Given the description of an element on the screen output the (x, y) to click on. 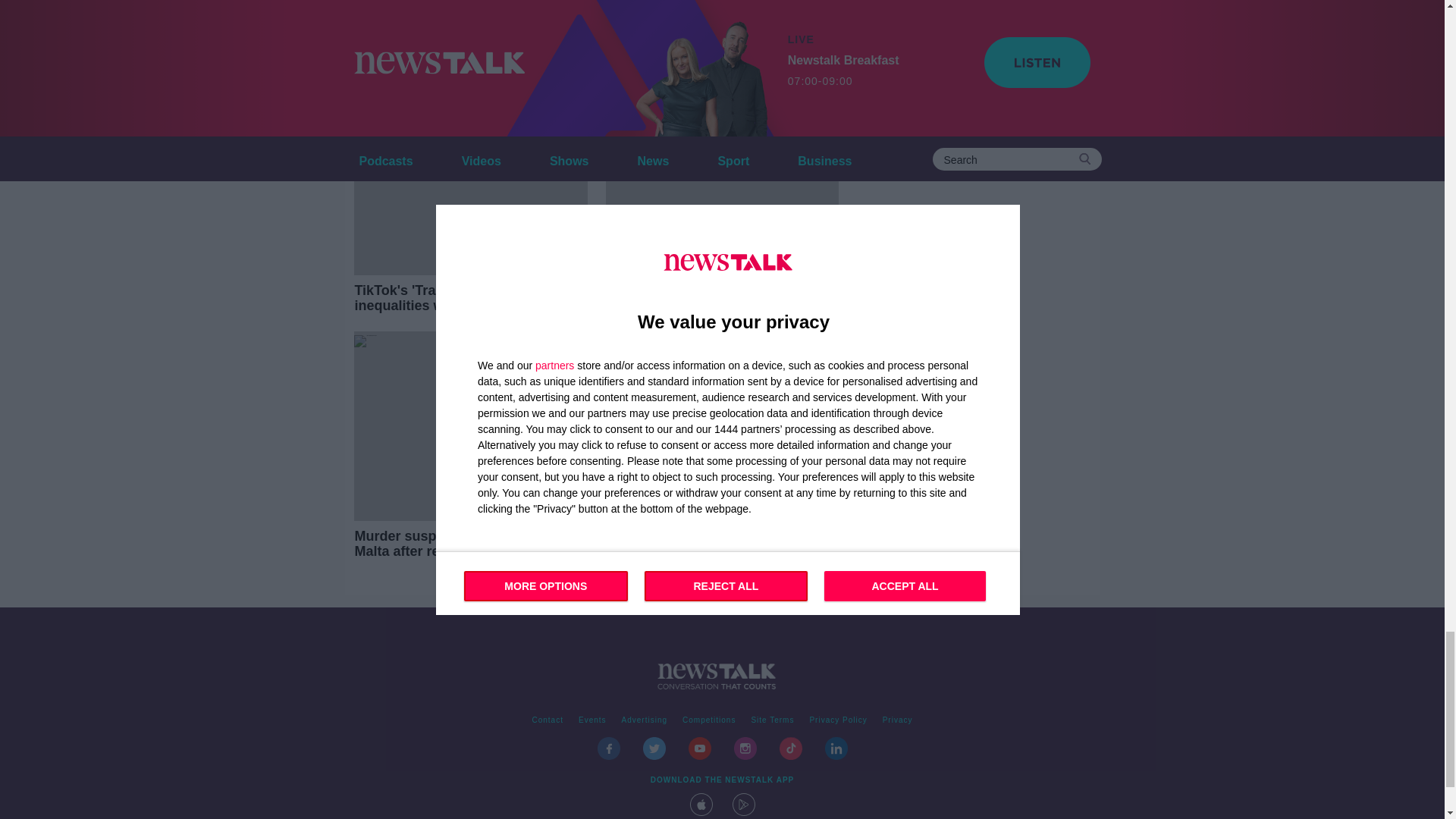
Privacy Policy (838, 720)
competitions (708, 720)
contact (547, 720)
events (592, 720)
advertising (644, 720)
site terms (772, 720)
Privacy (897, 720)
